Given the description of an element on the screen output the (x, y) to click on. 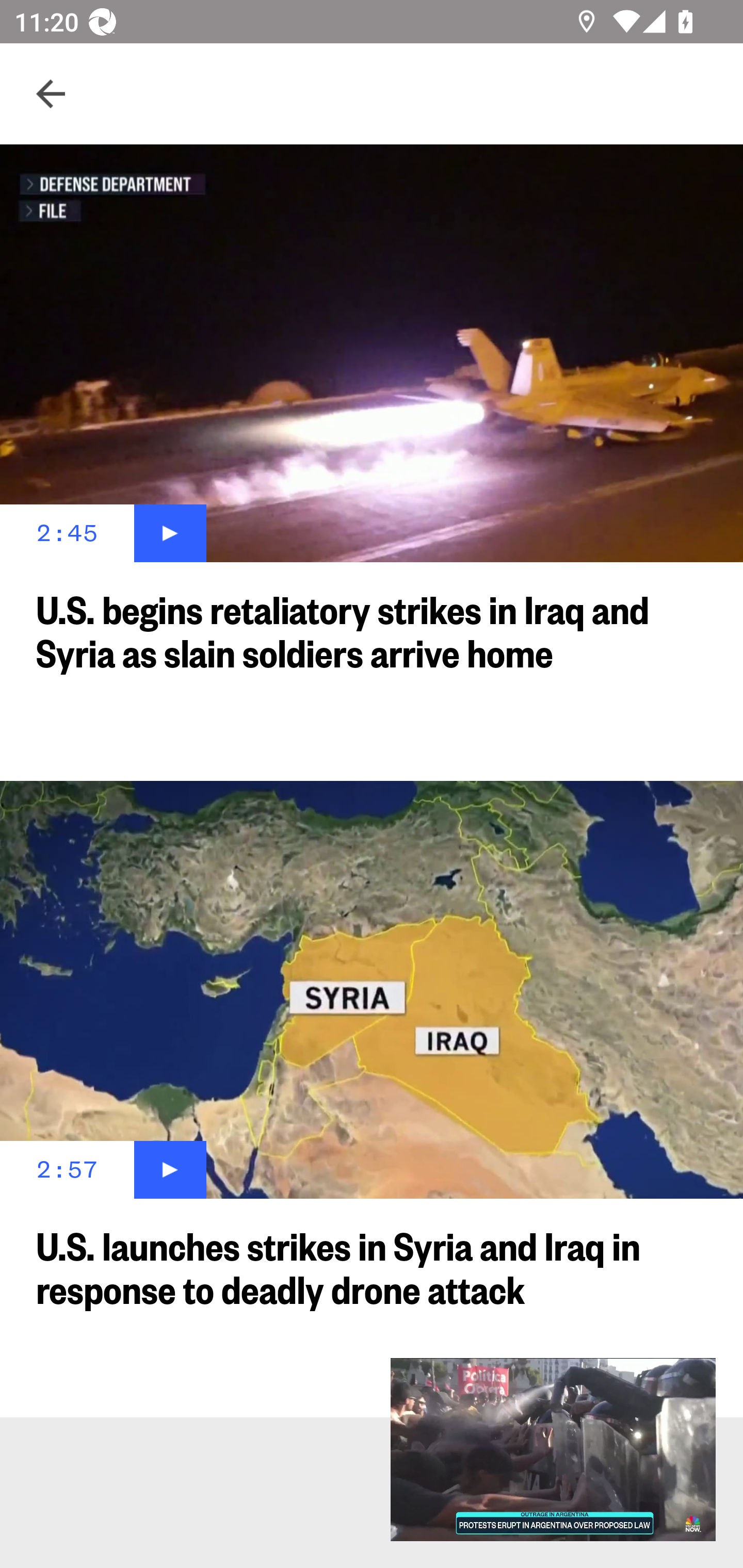
Navigate up (50, 93)
